Given the description of an element on the screen output the (x, y) to click on. 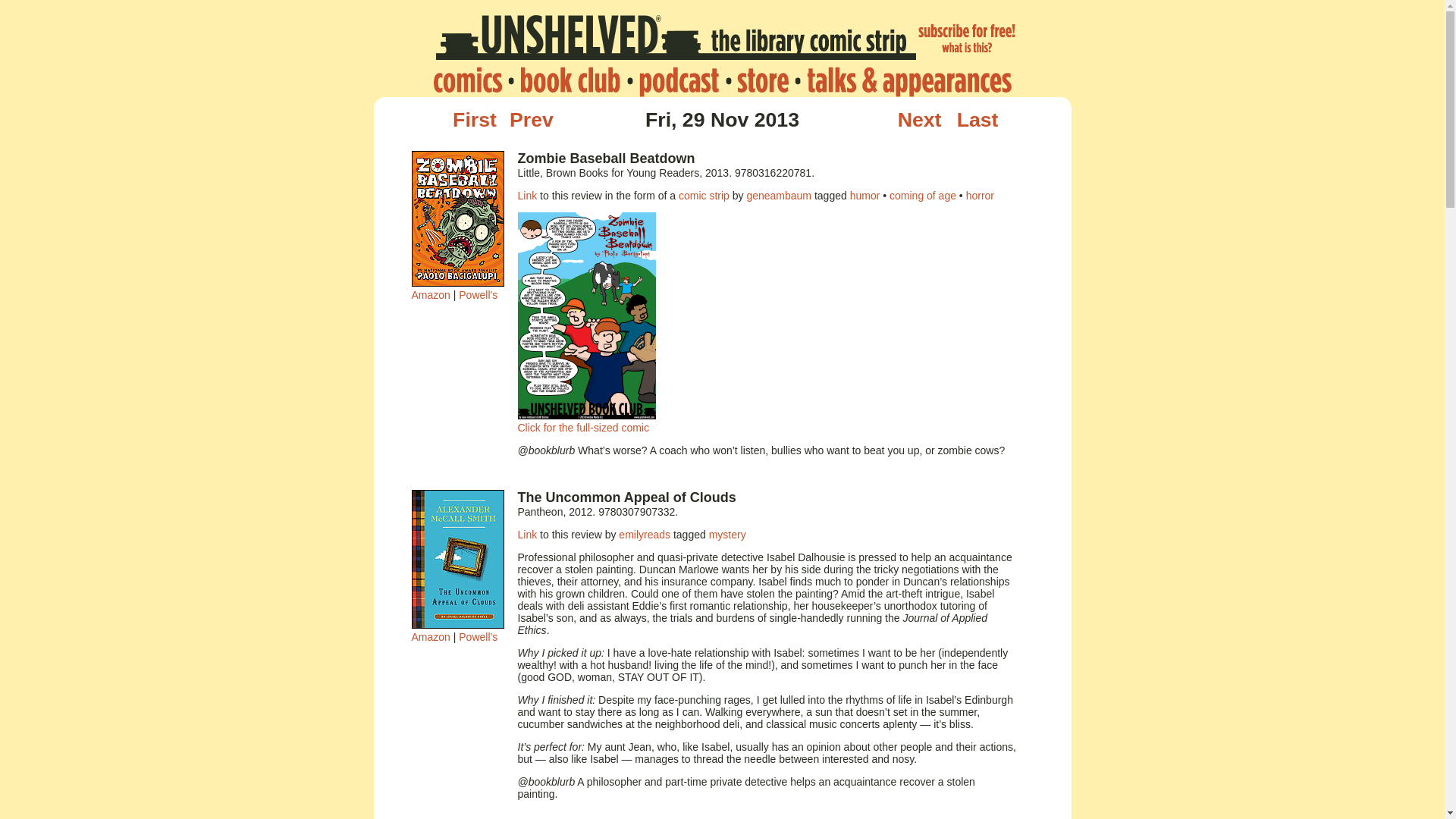
Prev (531, 119)
mystery (727, 534)
coming of age (922, 195)
Next (920, 119)
Link (526, 195)
geneambaum (777, 195)
podcast (678, 81)
subscribe (967, 40)
horror (980, 195)
emilyreads (643, 534)
